Given the description of an element on the screen output the (x, y) to click on. 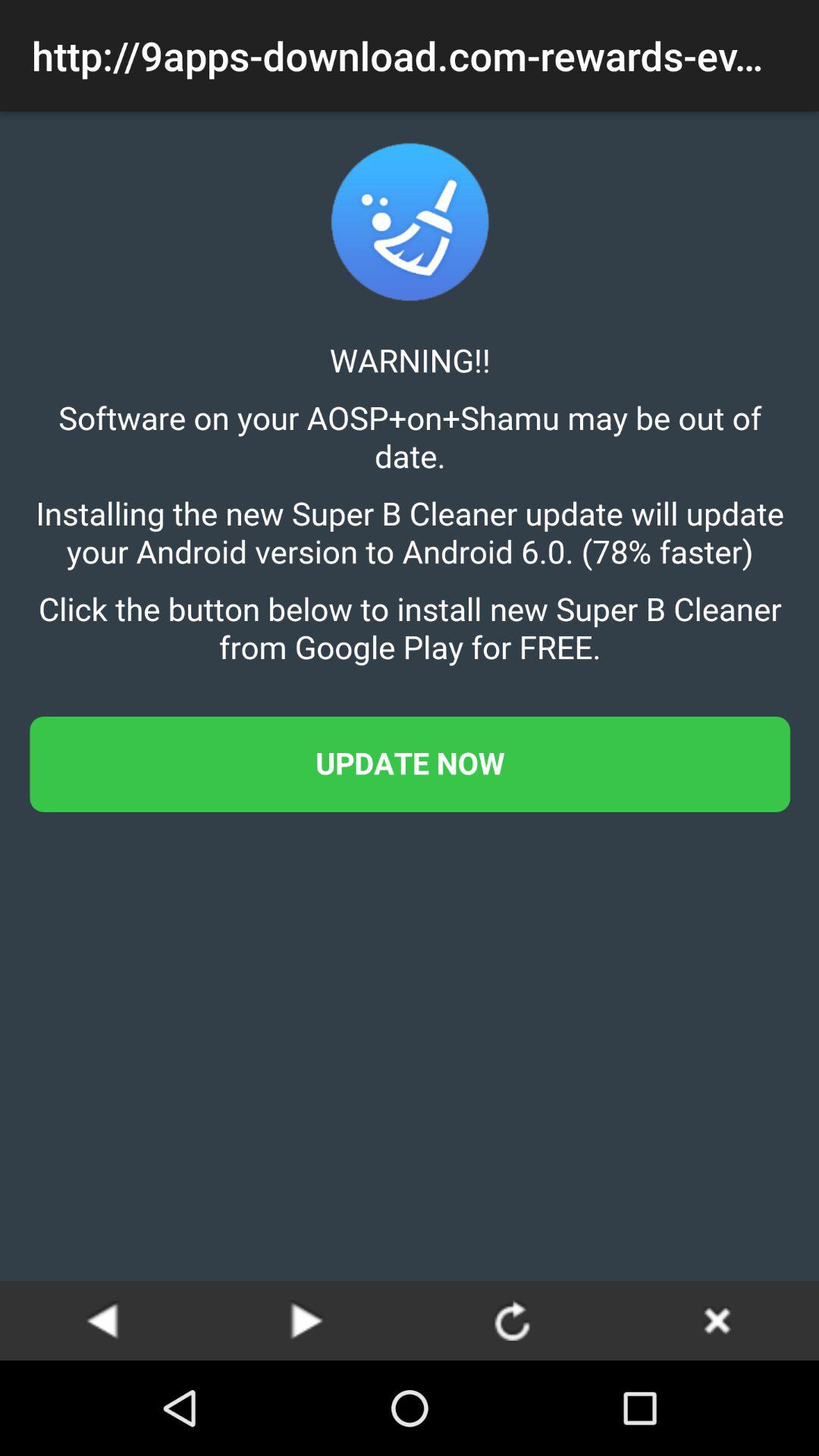
go back (102, 1320)
